Given the description of an element on the screen output the (x, y) to click on. 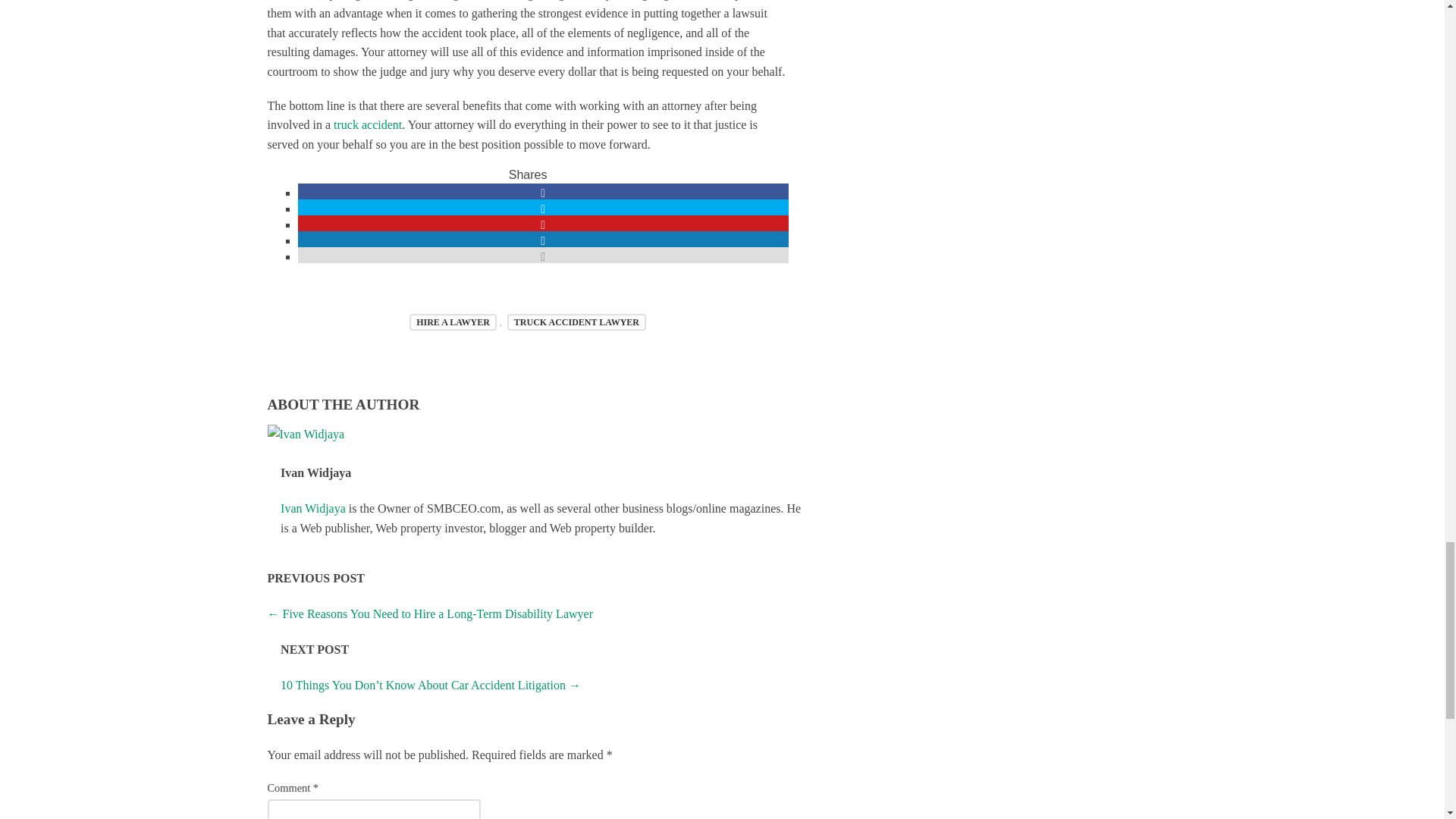
TRUCK ACCIDENT LAWYER (576, 321)
Ivan Widjaya (313, 508)
HIRE A LAWYER (452, 321)
truck accident (367, 124)
